Given the description of an element on the screen output the (x, y) to click on. 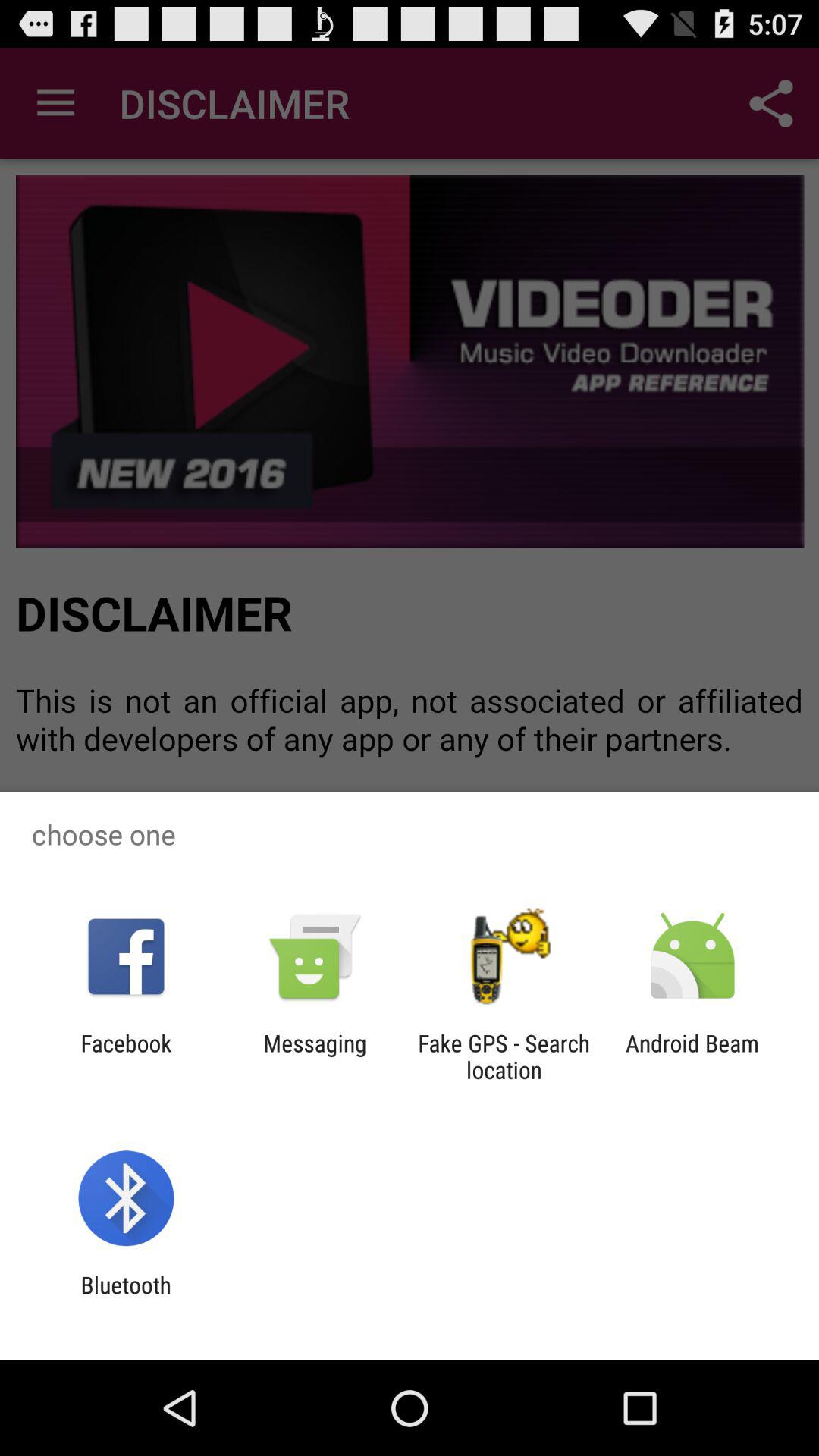
select the app to the right of the messaging app (503, 1056)
